Given the description of an element on the screen output the (x, y) to click on. 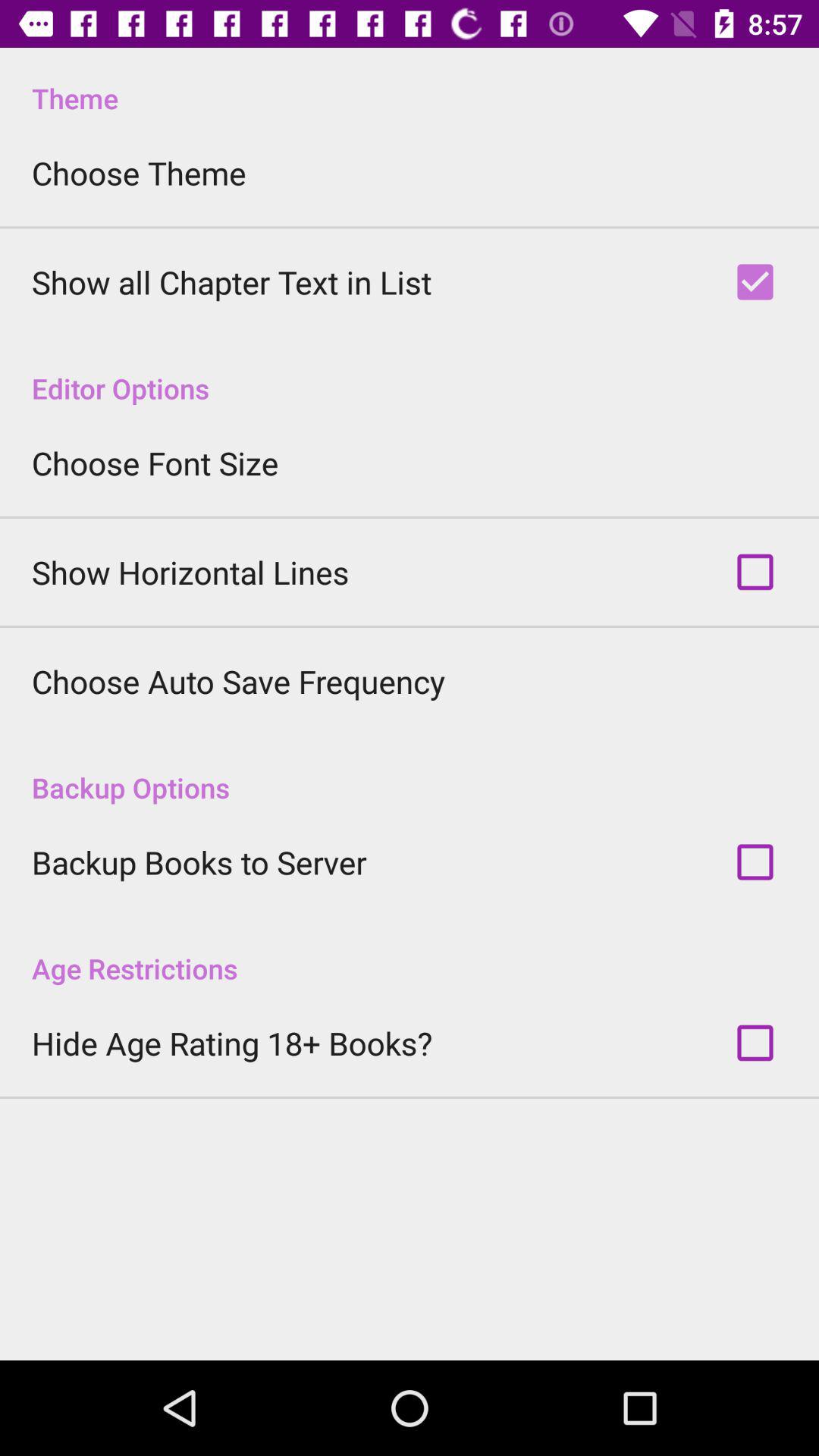
click the show horizontal lines app (190, 571)
